Given the description of an element on the screen output the (x, y) to click on. 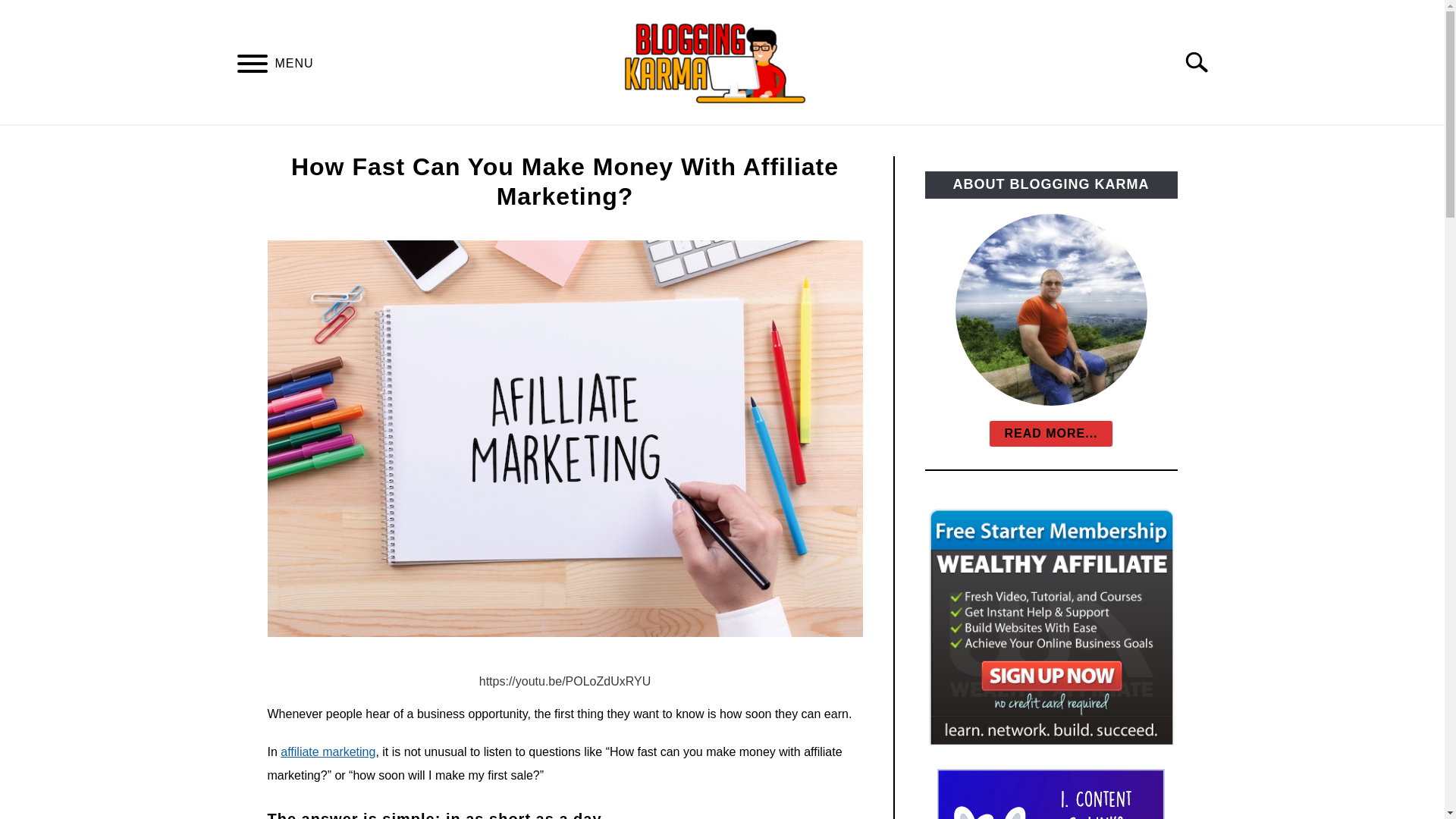
Search (1203, 62)
READ MORE... (1051, 433)
affiliate marketing (328, 751)
MENU (251, 66)
